Given the description of an element on the screen output the (x, y) to click on. 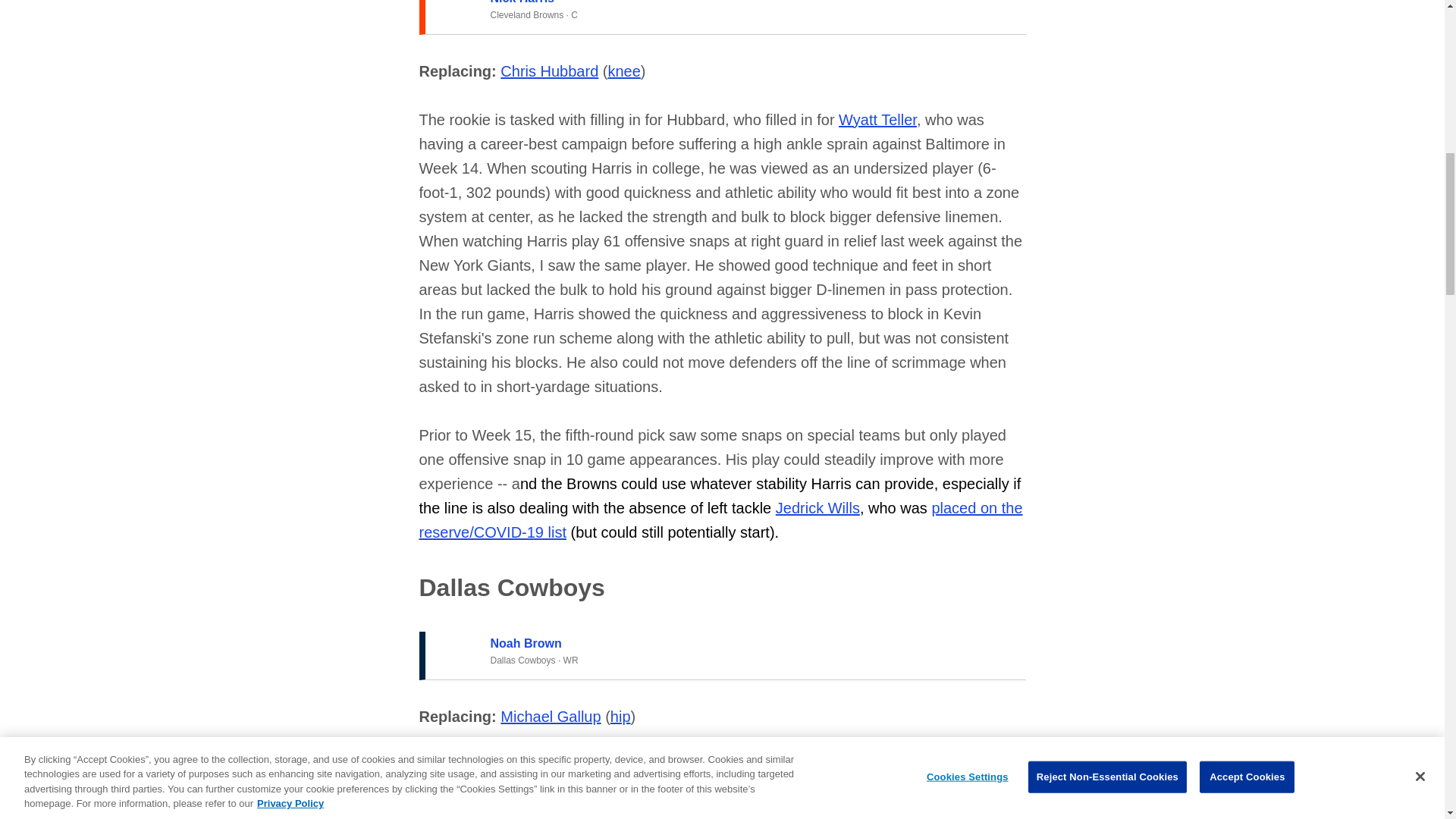
Noah Brown (524, 643)
Wyatt Teller (877, 119)
Jedrick Wills (818, 507)
knee (623, 71)
hip (620, 716)
Chris Hubbard (549, 71)
Noah Brown (524, 643)
Michael Gallup (549, 716)
Wyatt Teller (877, 119)
Nick Harris (521, 2)
